Given the description of an element on the screen output the (x, y) to click on. 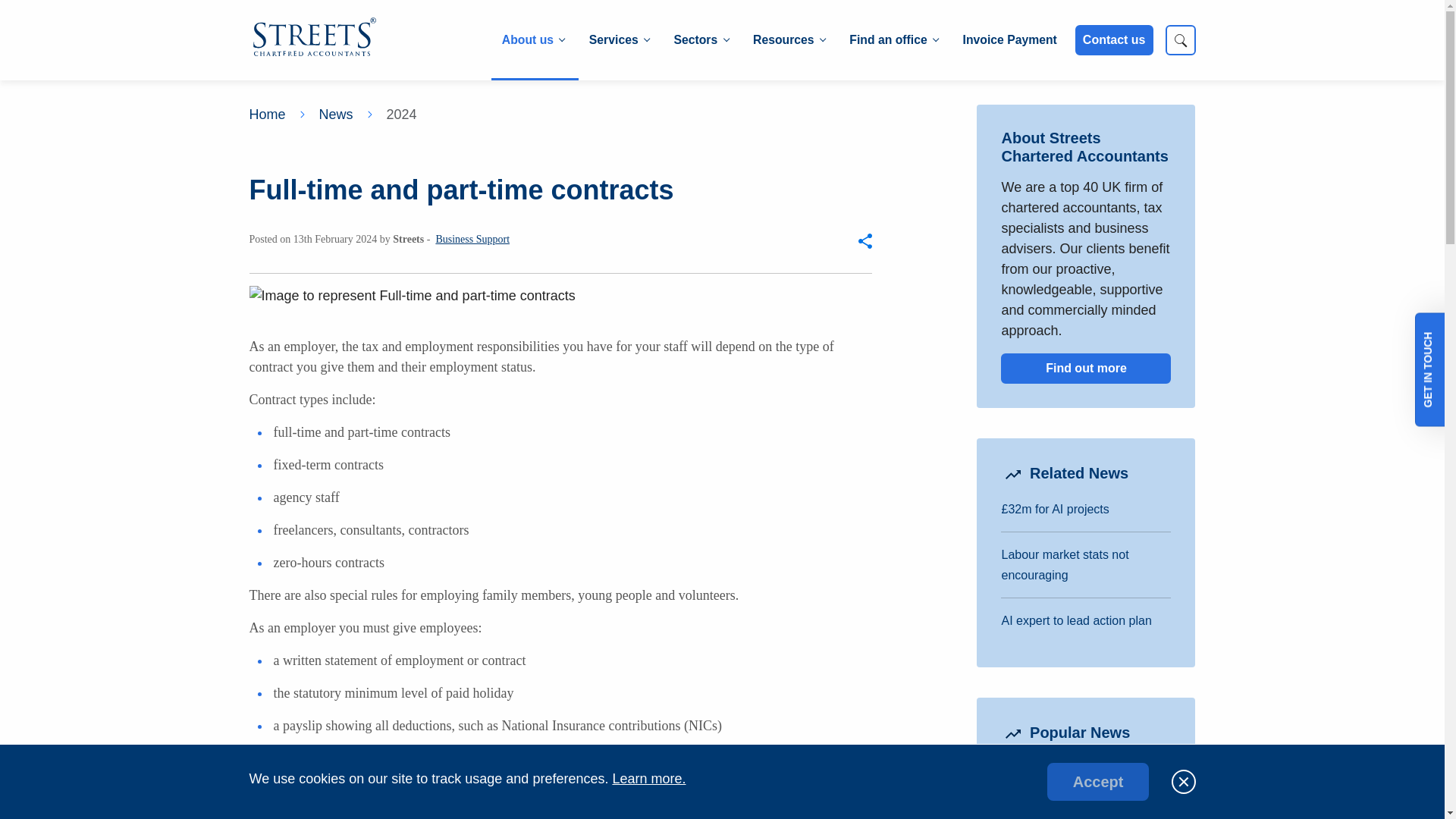
Services (619, 40)
Open submenu for About us (532, 40)
Open submenu for Find an office (893, 40)
Read Labour market stats not encouraging (1064, 564)
Open submenu for Services (619, 40)
Open submenu for Resources (789, 40)
Invoice Payment (1009, 40)
Read Time to rethink the credit you offer your customers (1079, 778)
Read AI expert to lead action plan (1076, 620)
Open submenu for Sectors (701, 40)
